Given the description of an element on the screen output the (x, y) to click on. 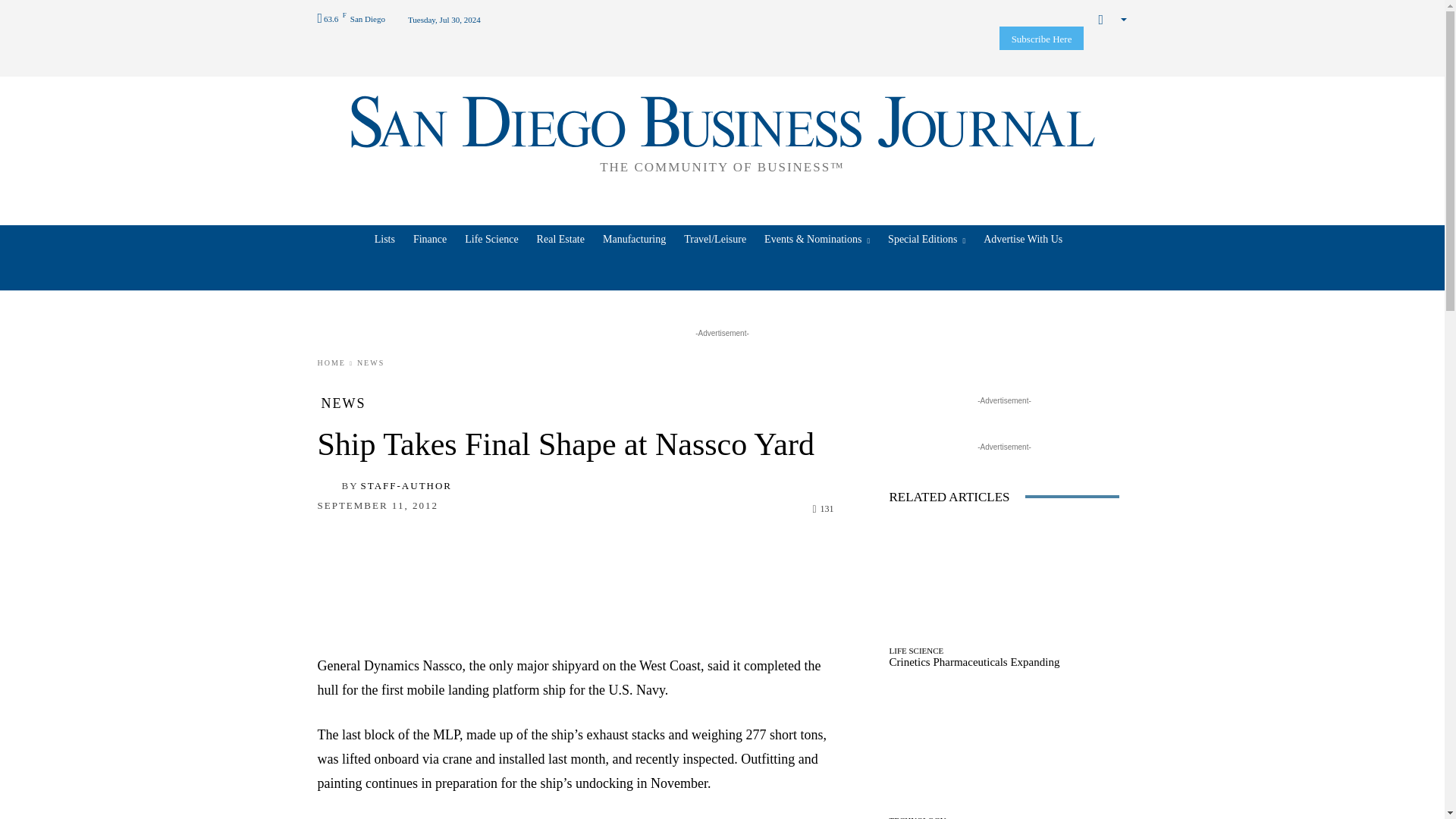
San Diego Business Journal Logo (721, 132)
